Given the description of an element on the screen output the (x, y) to click on. 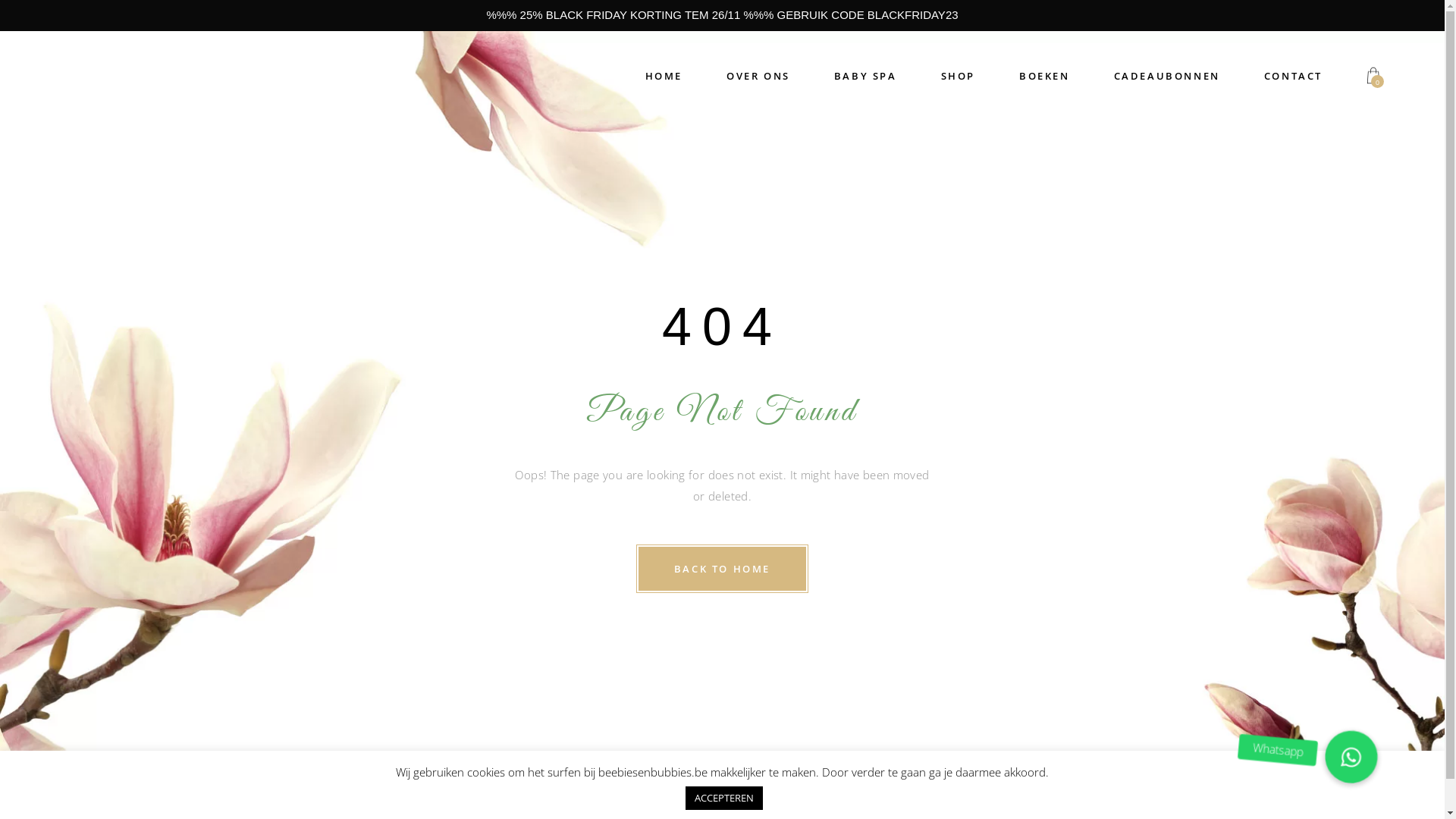
CONTACT Element type: text (1293, 76)
HOME Element type: text (663, 76)
ACCEPTEREN Element type: text (723, 797)
BABY SPA Element type: text (865, 76)
BOEKEN Element type: text (1044, 76)
OVER ONS Element type: text (758, 76)
0 Element type: text (1373, 76)
Whatsapp Element type: text (1349, 755)
CADEAUBONNEN Element type: text (1167, 76)
BACK TO HOME Element type: text (722, 568)
SHOP Element type: text (958, 76)
